Given the description of an element on the screen output the (x, y) to click on. 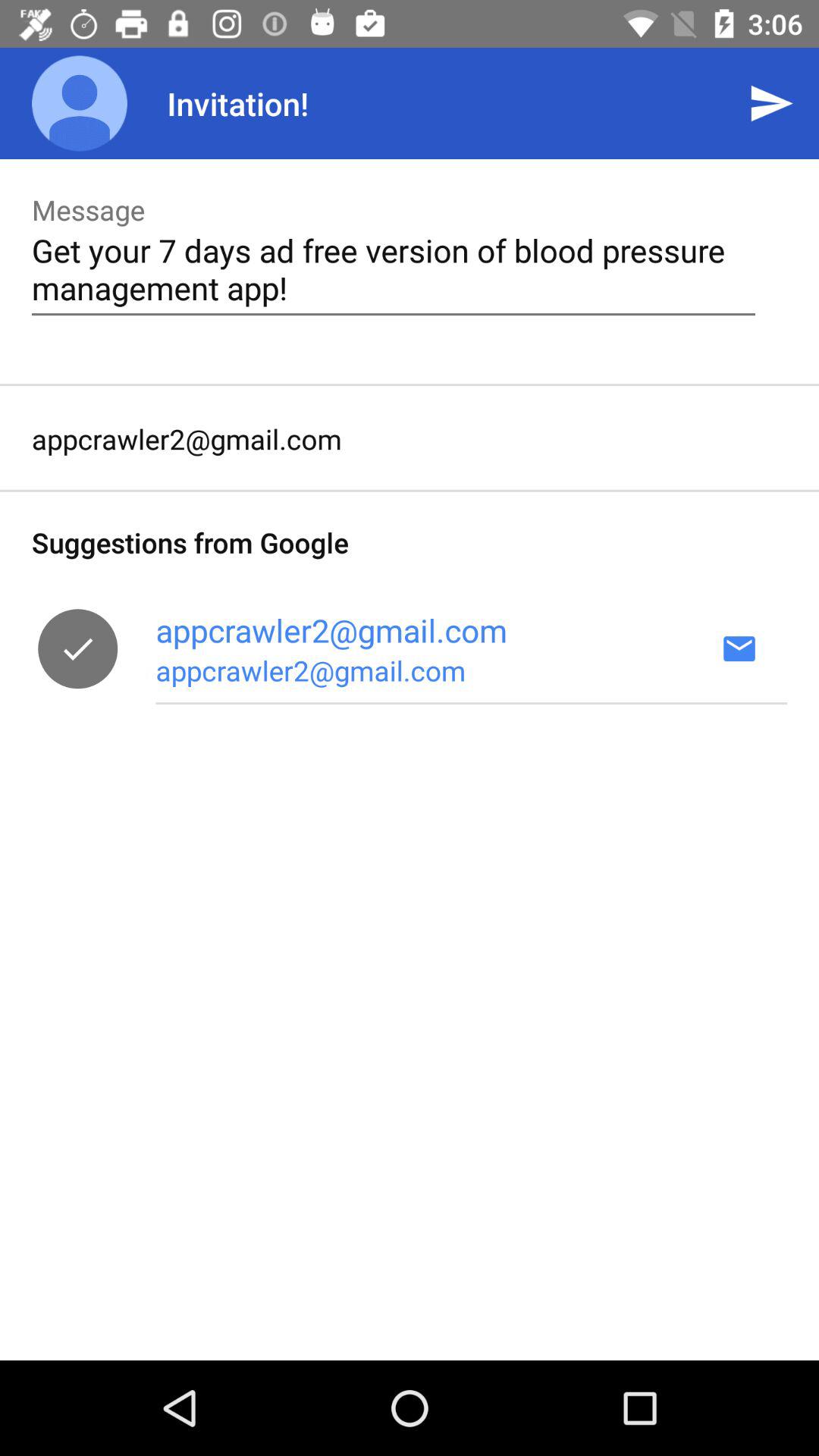
open the item to the left of the invitation! icon (79, 103)
